Given the description of an element on the screen output the (x, y) to click on. 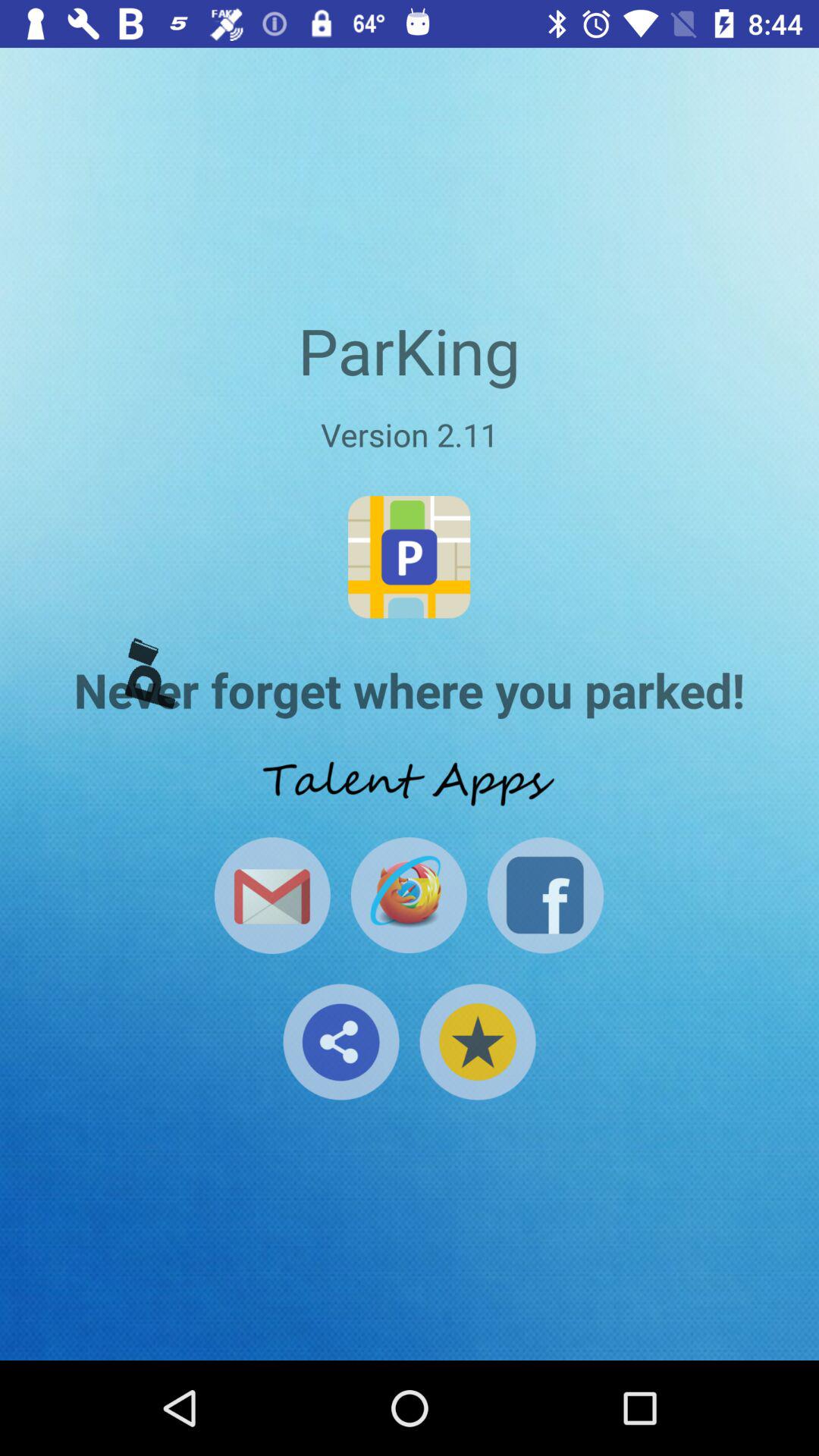
share via facebook (545, 895)
